Given the description of an element on the screen output the (x, y) to click on. 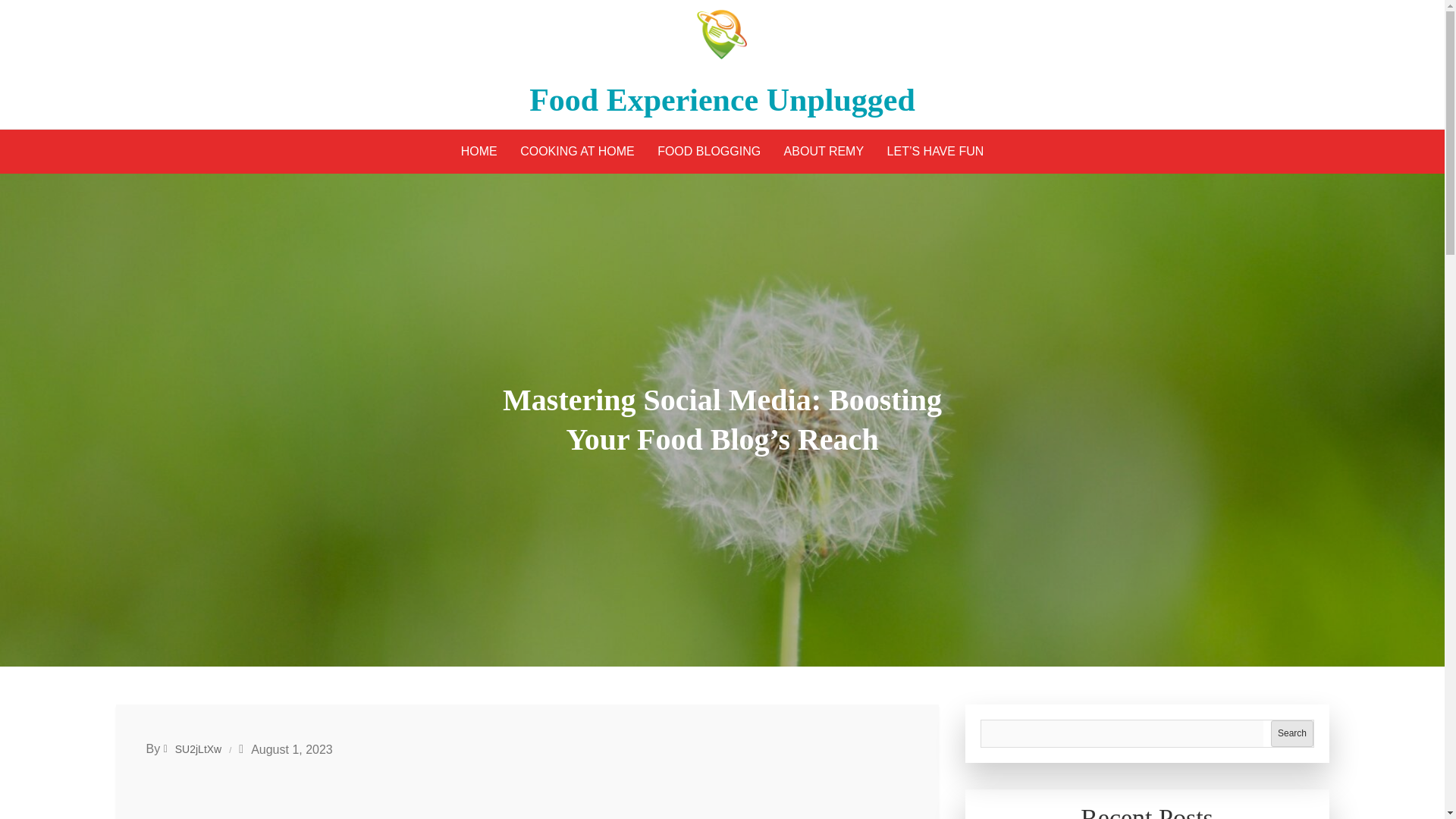
Search (1292, 733)
ABOUT REMY (824, 151)
FOOD BLOGGING (708, 151)
SU2jLtXw (192, 748)
Food Experience Unplugged (722, 99)
COOKING AT HOME (578, 151)
HOME (478, 151)
